Given the description of an element on the screen output the (x, y) to click on. 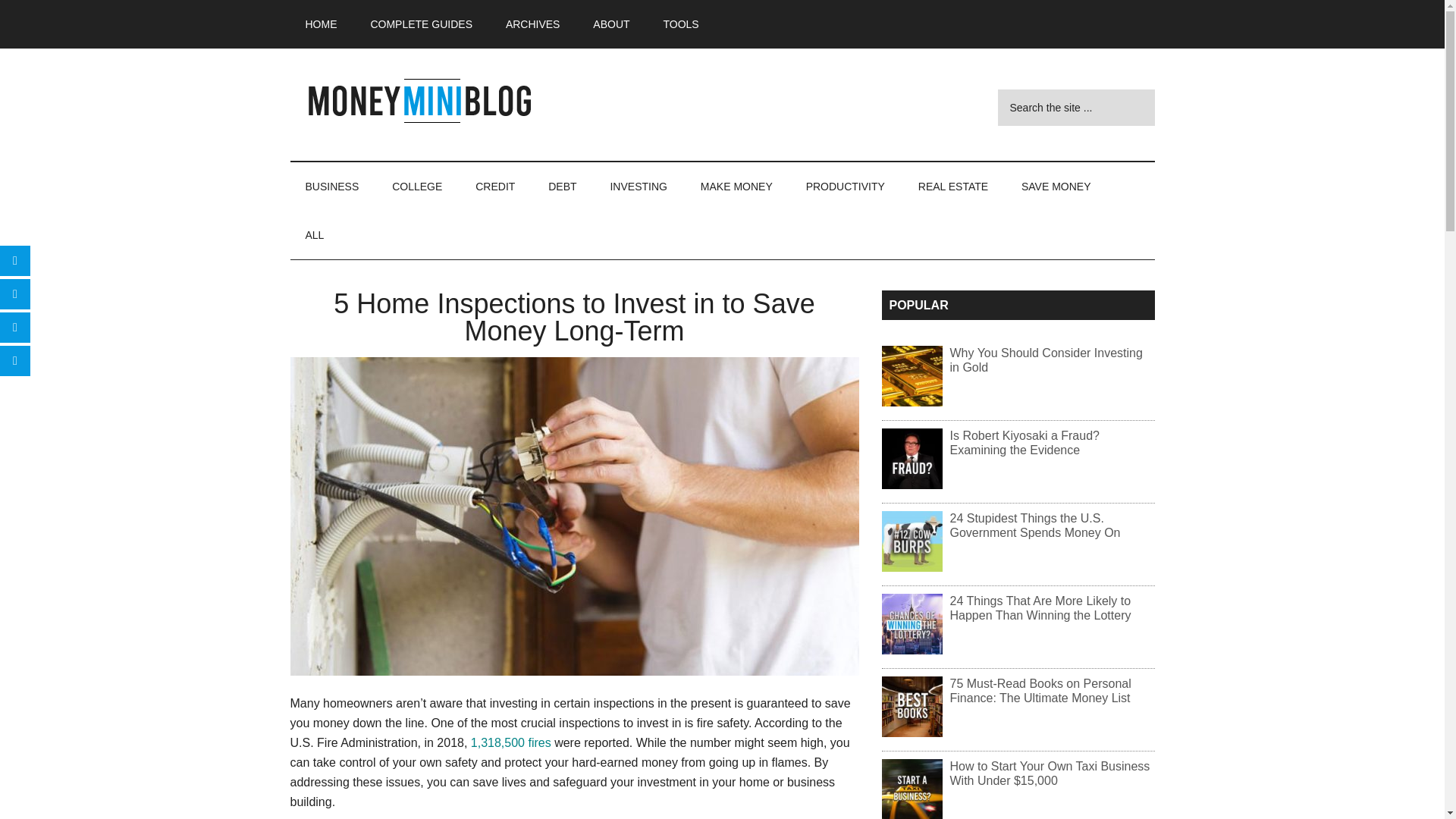
CREDIT (494, 186)
BUSINESS (331, 186)
INVESTING (637, 186)
REAL ESTATE (952, 186)
ALL (314, 234)
MAKE MONEY (736, 186)
DEBT (561, 186)
TOOLS (680, 24)
